Given the description of an element on the screen output the (x, y) to click on. 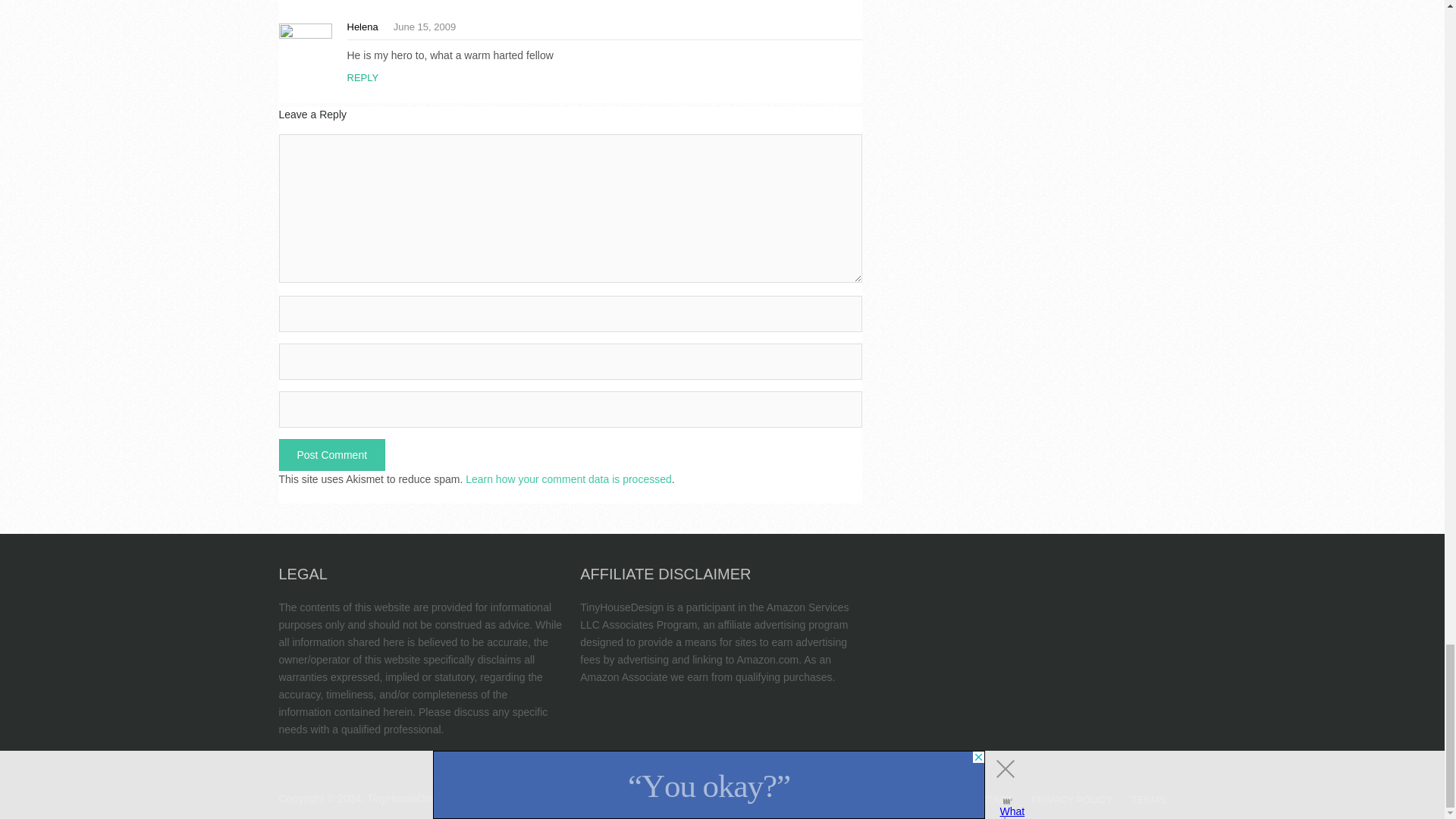
Post Comment (332, 454)
REPLY (362, 77)
